Given the description of an element on the screen output the (x, y) to click on. 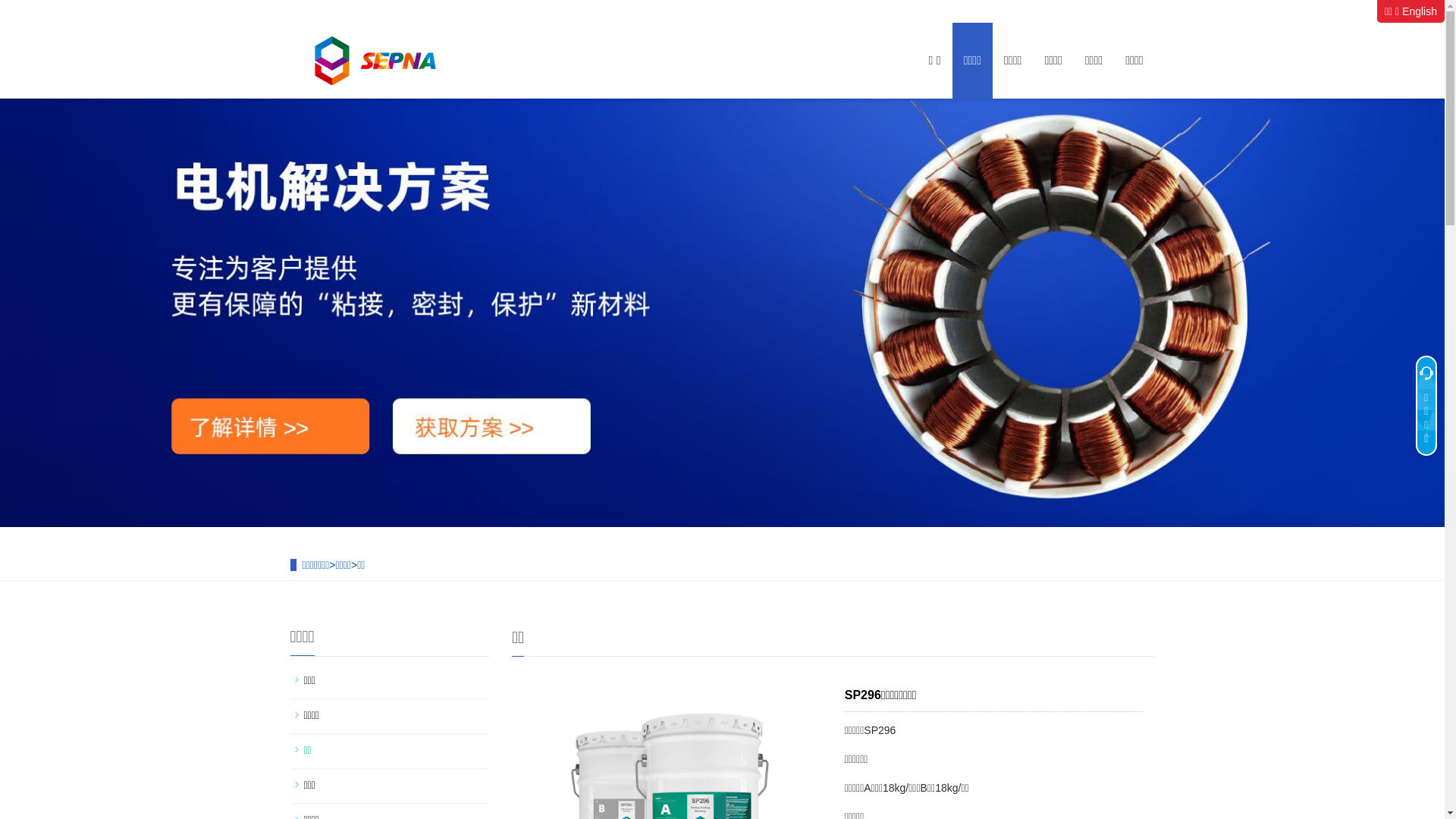
English Element type: text (1419, 11)
